Given the description of an element on the screen output the (x, y) to click on. 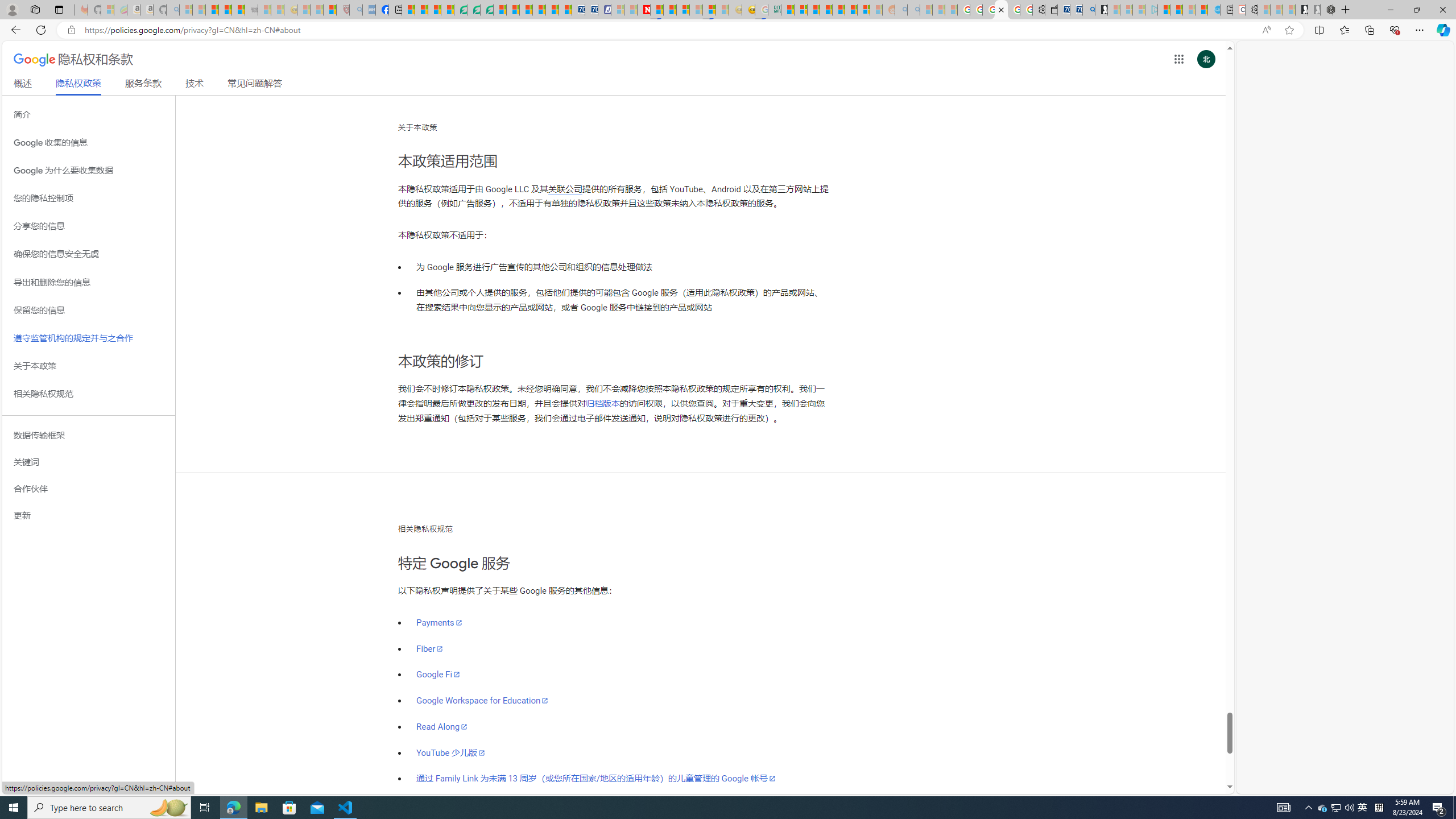
Microsoft Word - consumer-privacy address update 2.2021 (486, 9)
